Given the description of an element on the screen output the (x, y) to click on. 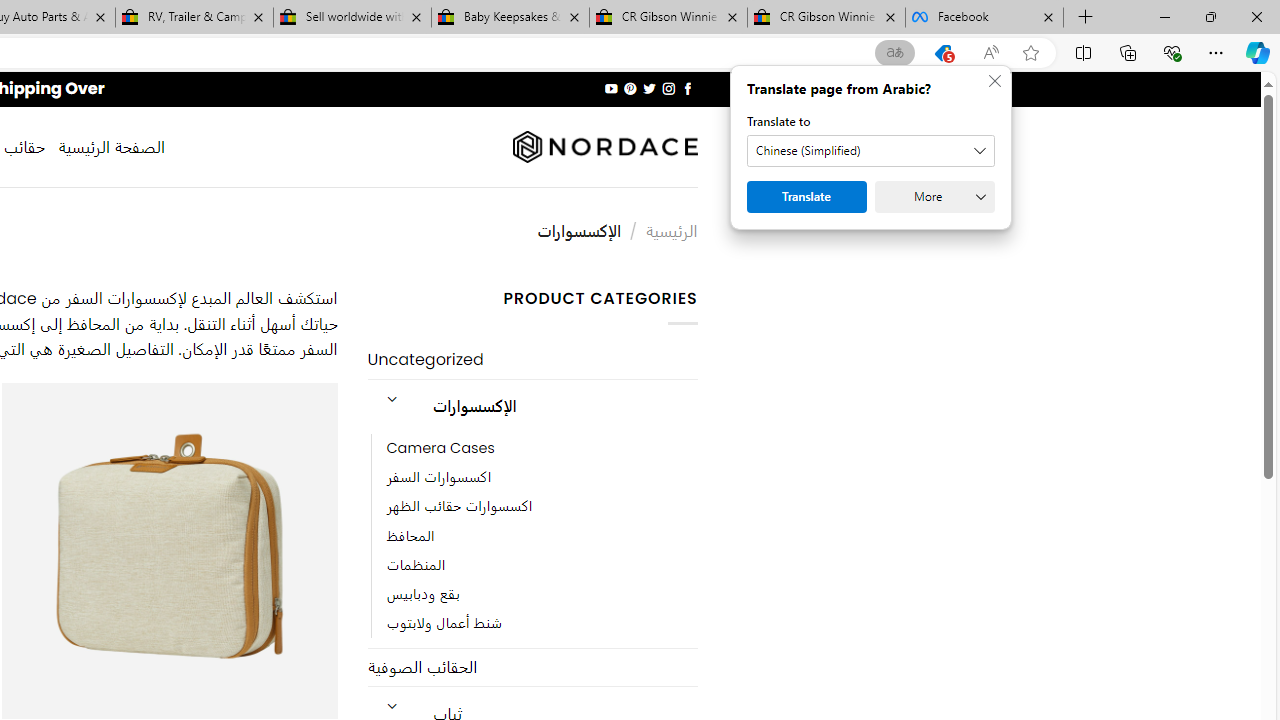
Camera Cases (440, 448)
Follow on Pinterest (630, 88)
Facebook (984, 17)
